Given the description of an element on the screen output the (x, y) to click on. 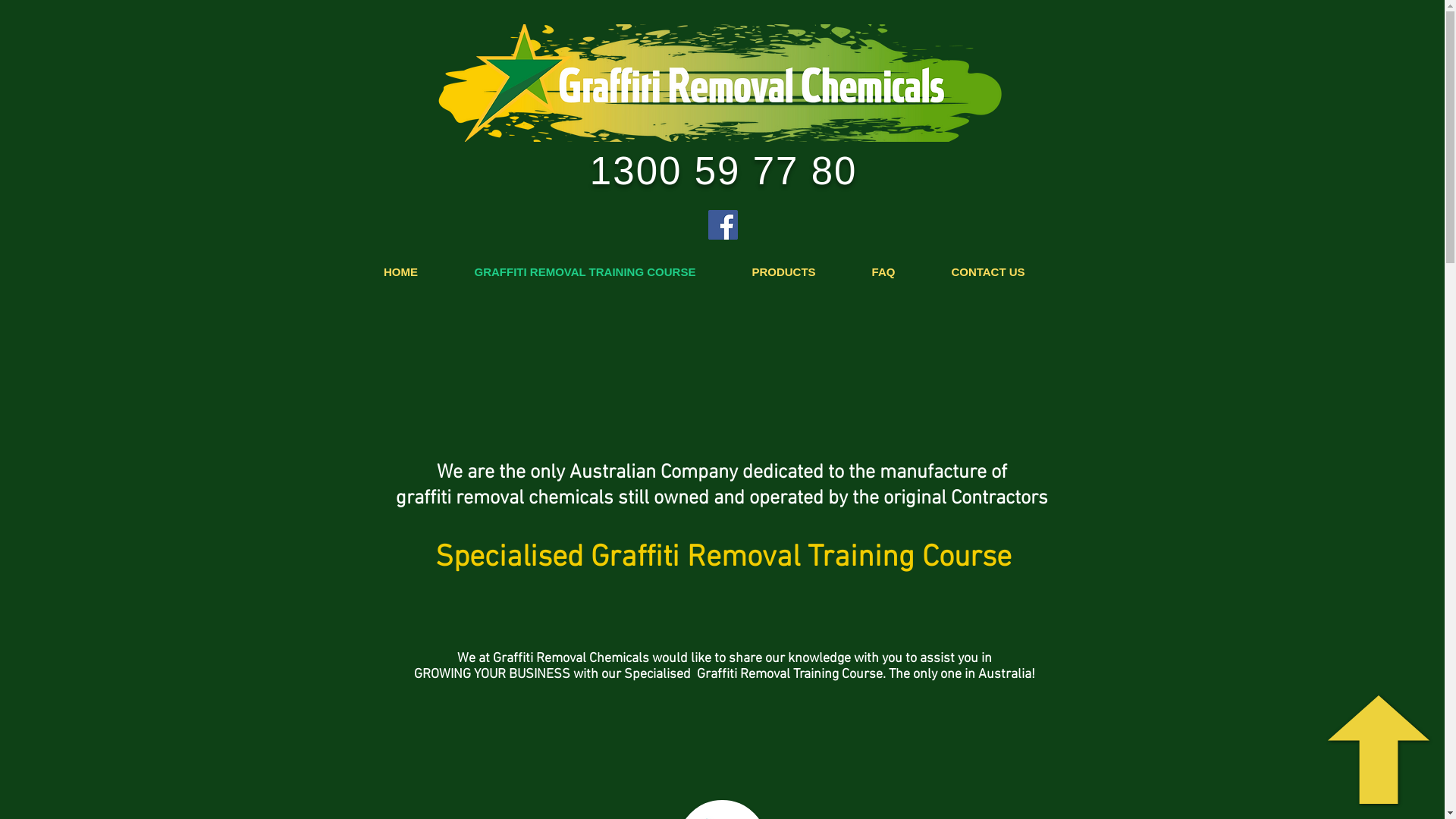
HOME Element type: text (399, 271)
PRODUCTS Element type: text (783, 271)
FAQ Element type: text (882, 271)
GRAFFITI REMOVAL TRAINING COURSE Element type: text (584, 271)
Keeping our Country Graffiti Free Element type: hover (719, 82)
CONTACT US Element type: text (988, 271)
